Given the description of an element on the screen output the (x, y) to click on. 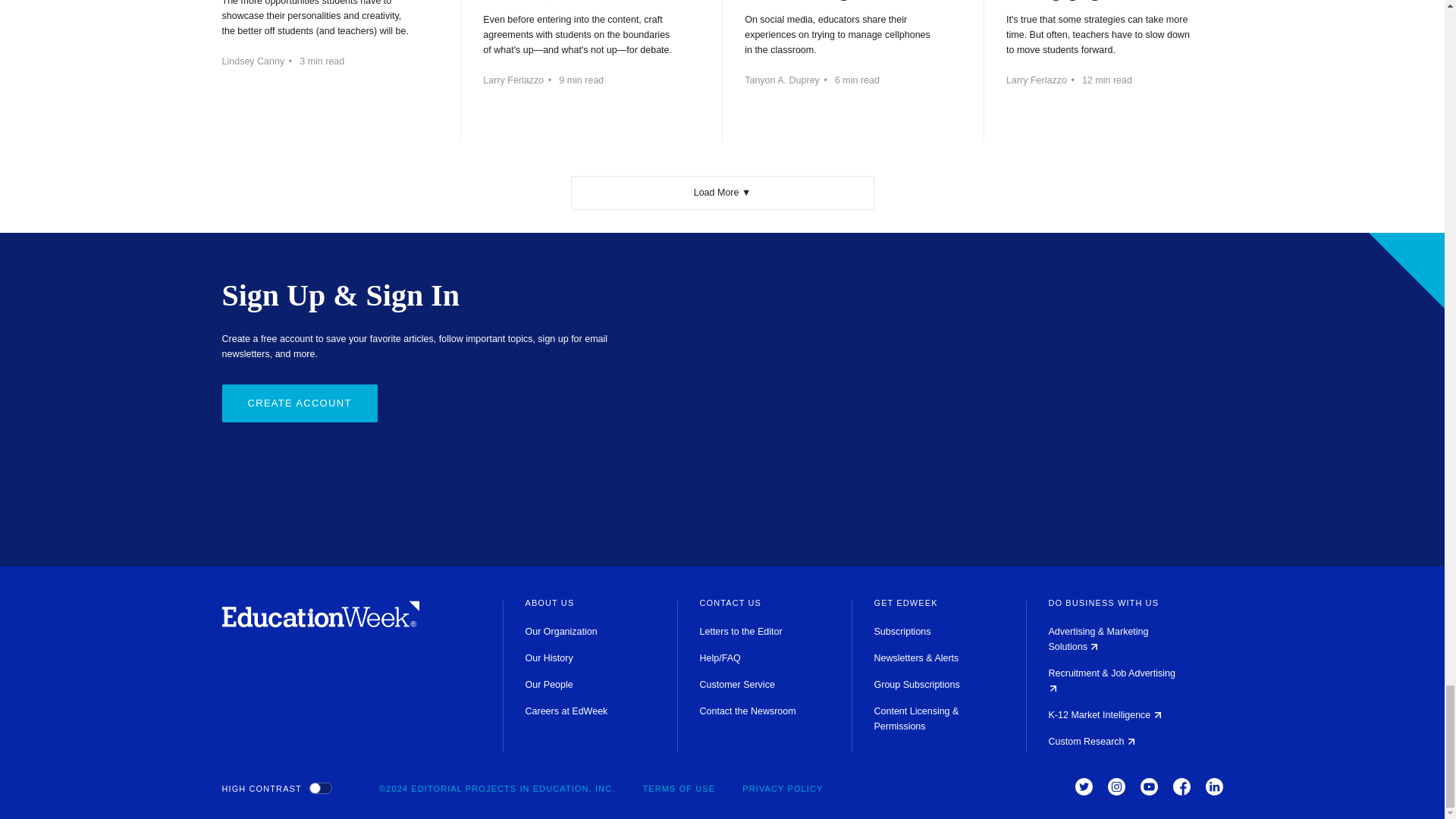
Homepage (320, 623)
